Given the description of an element on the screen output the (x, y) to click on. 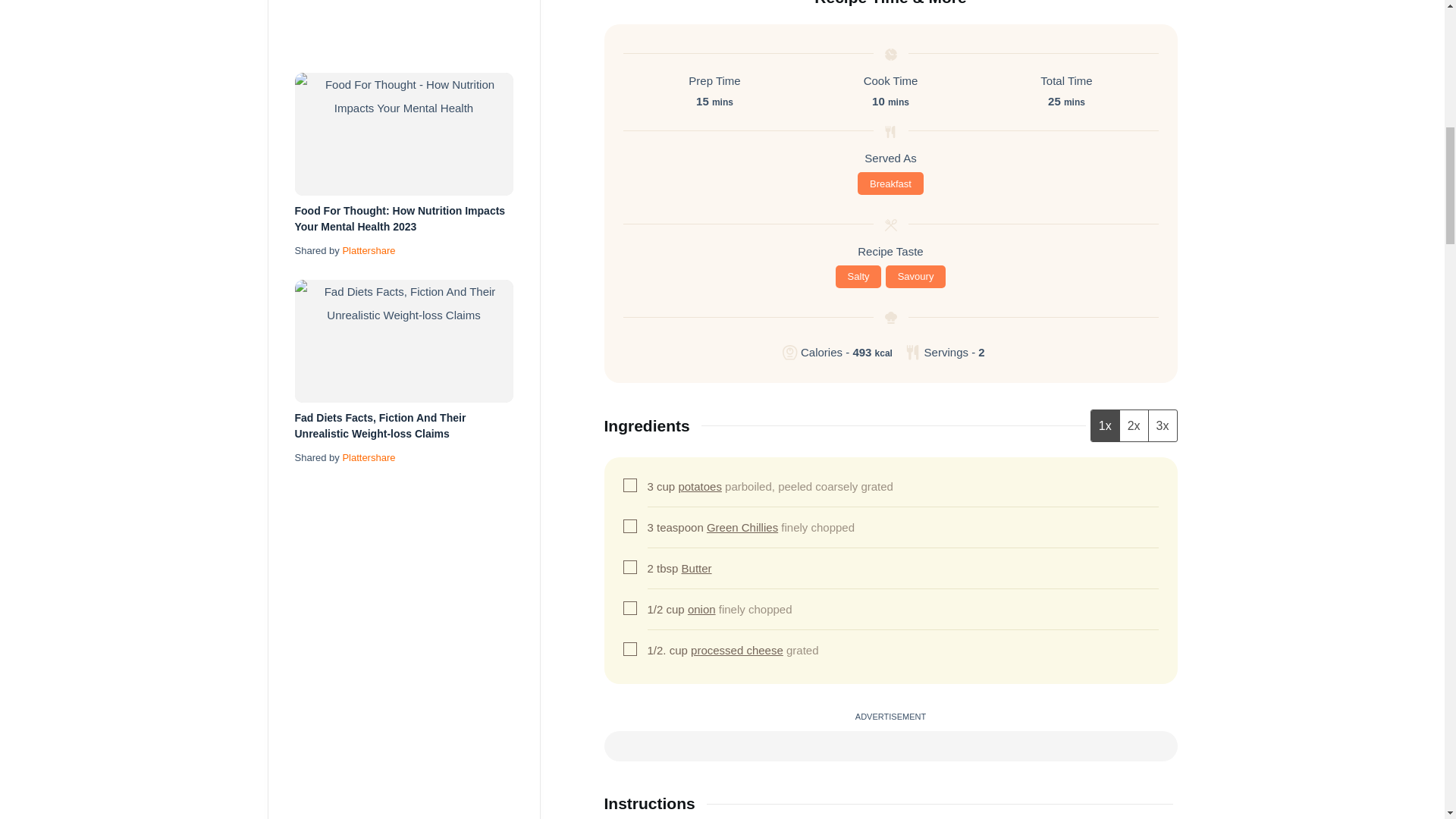
Breakfast (890, 182)
Salty (857, 276)
2x (1133, 426)
Savoury (914, 276)
potatoes (700, 486)
3x (1162, 426)
